Given the description of an element on the screen output the (x, y) to click on. 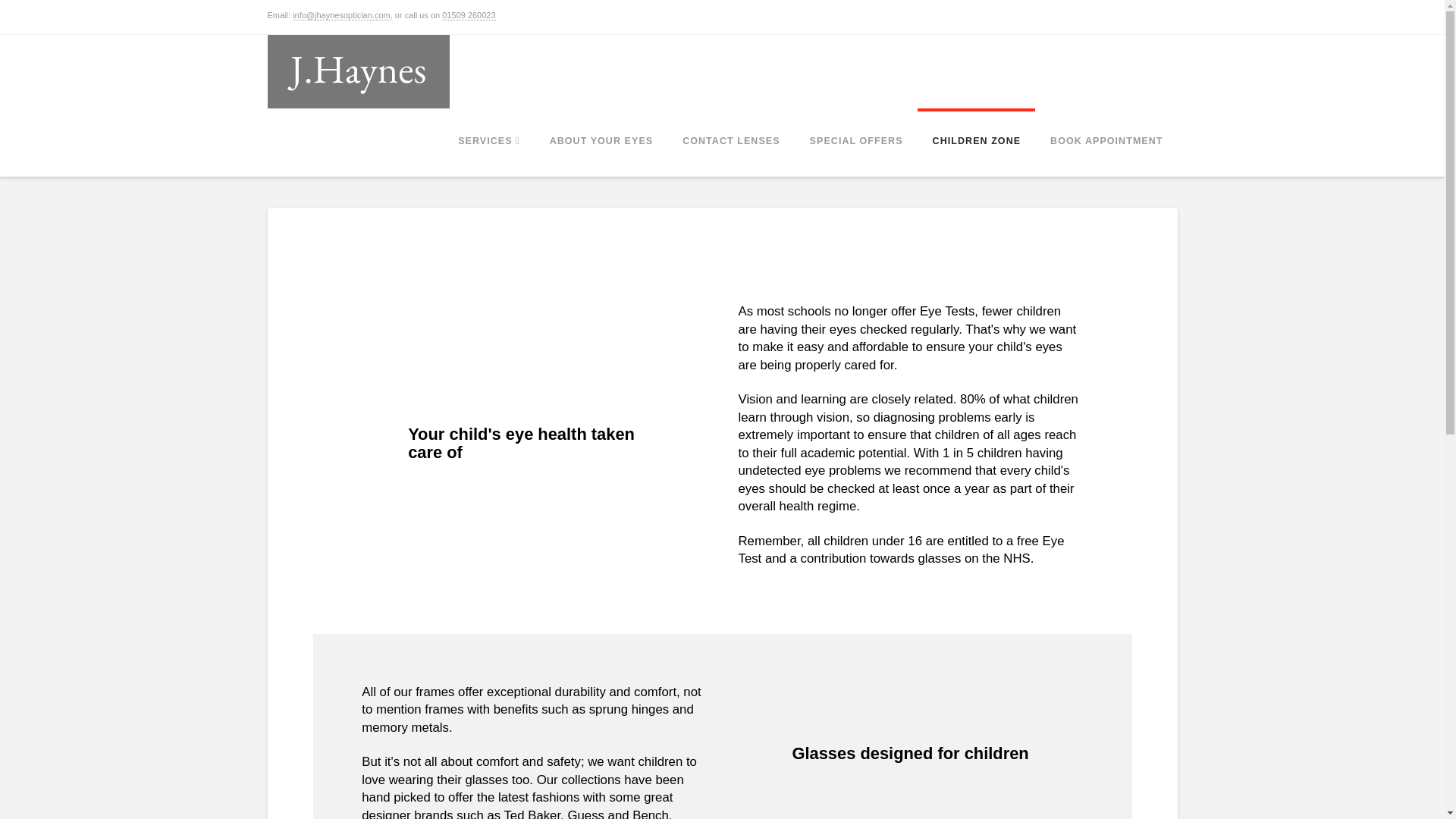
ABOUT YOUR EYES (601, 142)
CHILDREN ZONE (976, 142)
SERVICES (488, 142)
CONTACT LENSES (729, 142)
01509 260023 (468, 15)
BOOK APPOINTMENT (1105, 142)
SPECIAL OFFERS (855, 142)
